Given the description of an element on the screen output the (x, y) to click on. 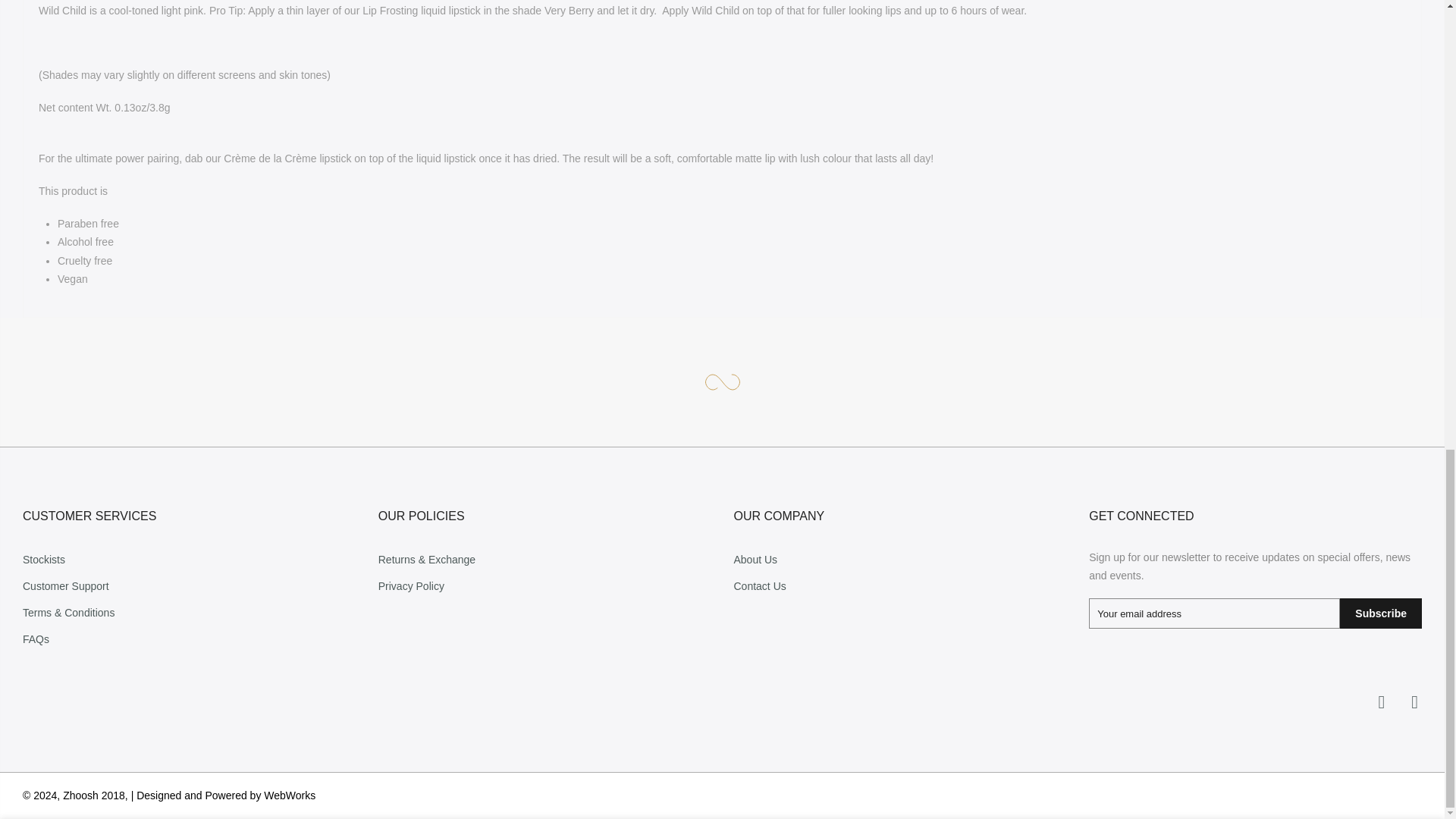
FAQs (36, 639)
Privacy Policy (411, 585)
Contact Us (759, 585)
Customer Support (66, 585)
Subscribe (1380, 613)
Stockists (44, 559)
About Us (755, 559)
